Given the description of an element on the screen output the (x, y) to click on. 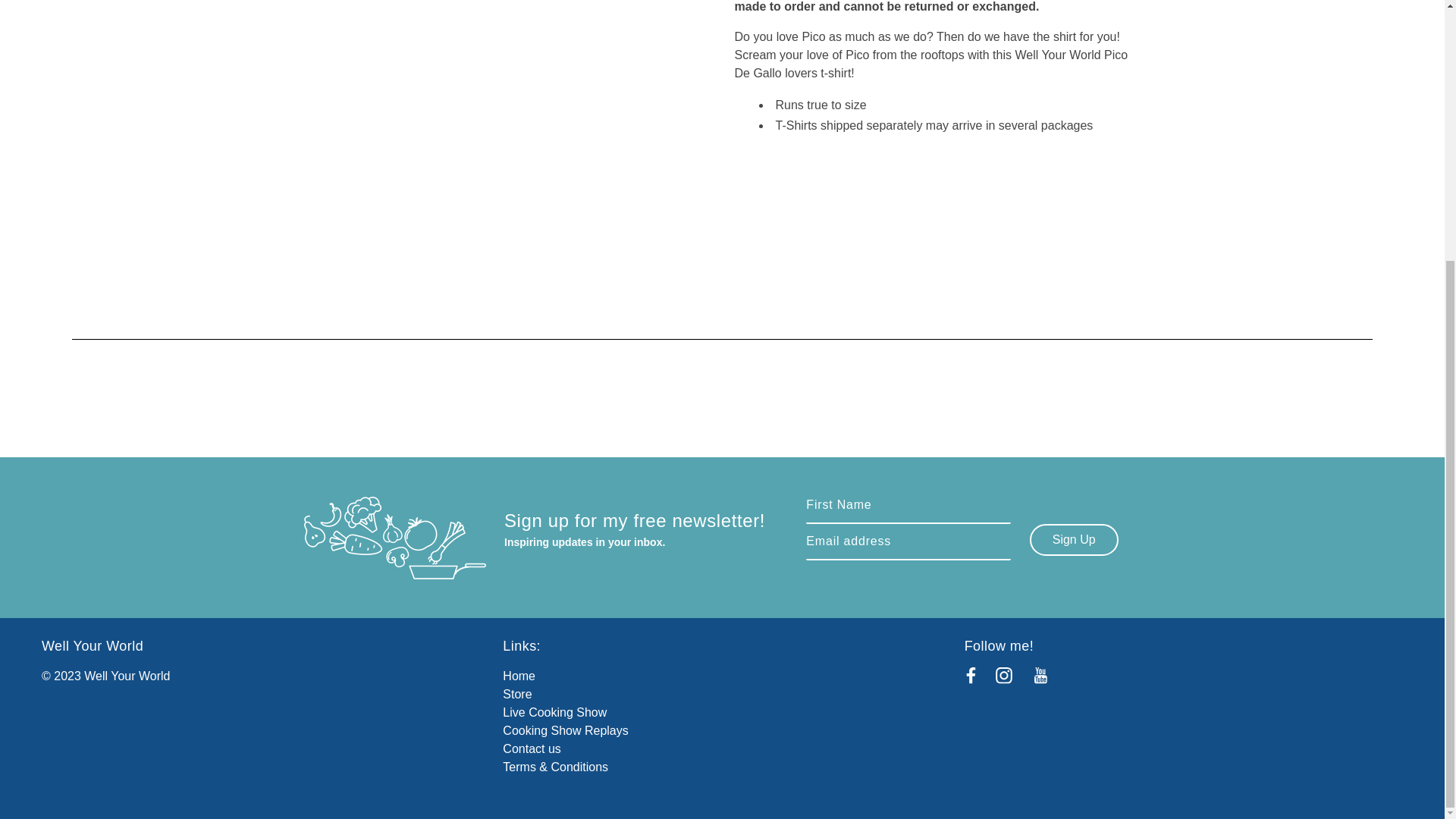
Contact us (531, 748)
Home (518, 675)
Live Cooking Show (554, 712)
Store (516, 694)
Cooking Show Replays (564, 730)
